Given the description of an element on the screen output the (x, y) to click on. 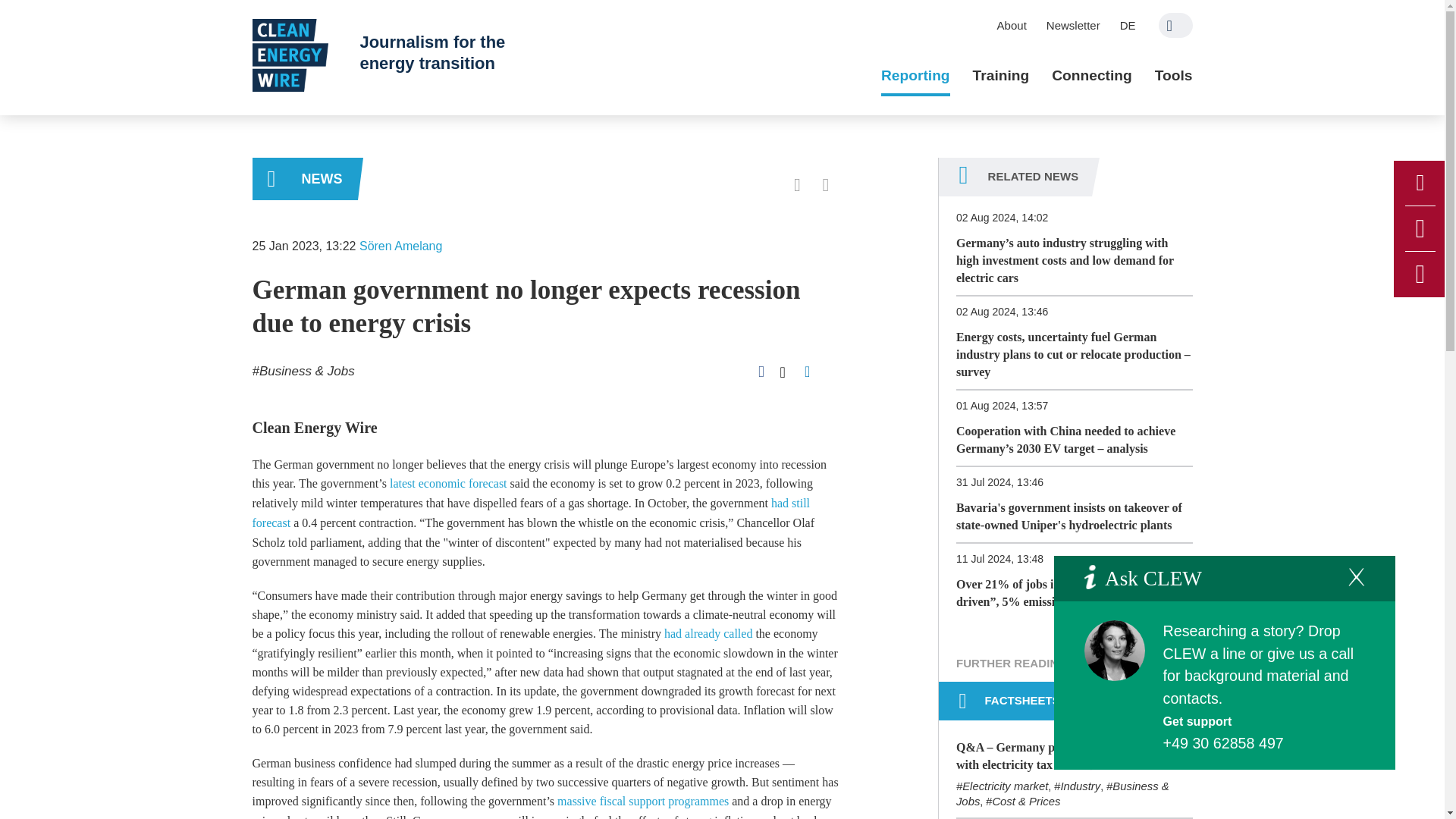
About (1011, 25)
had still forecast (530, 512)
Training (1000, 75)
Search (1175, 25)
latest economic forecast (448, 482)
DE (1127, 25)
Newsletter (1072, 25)
Tools (1173, 75)
Connecting (1091, 75)
Reporting (915, 75)
